Given the description of an element on the screen output the (x, y) to click on. 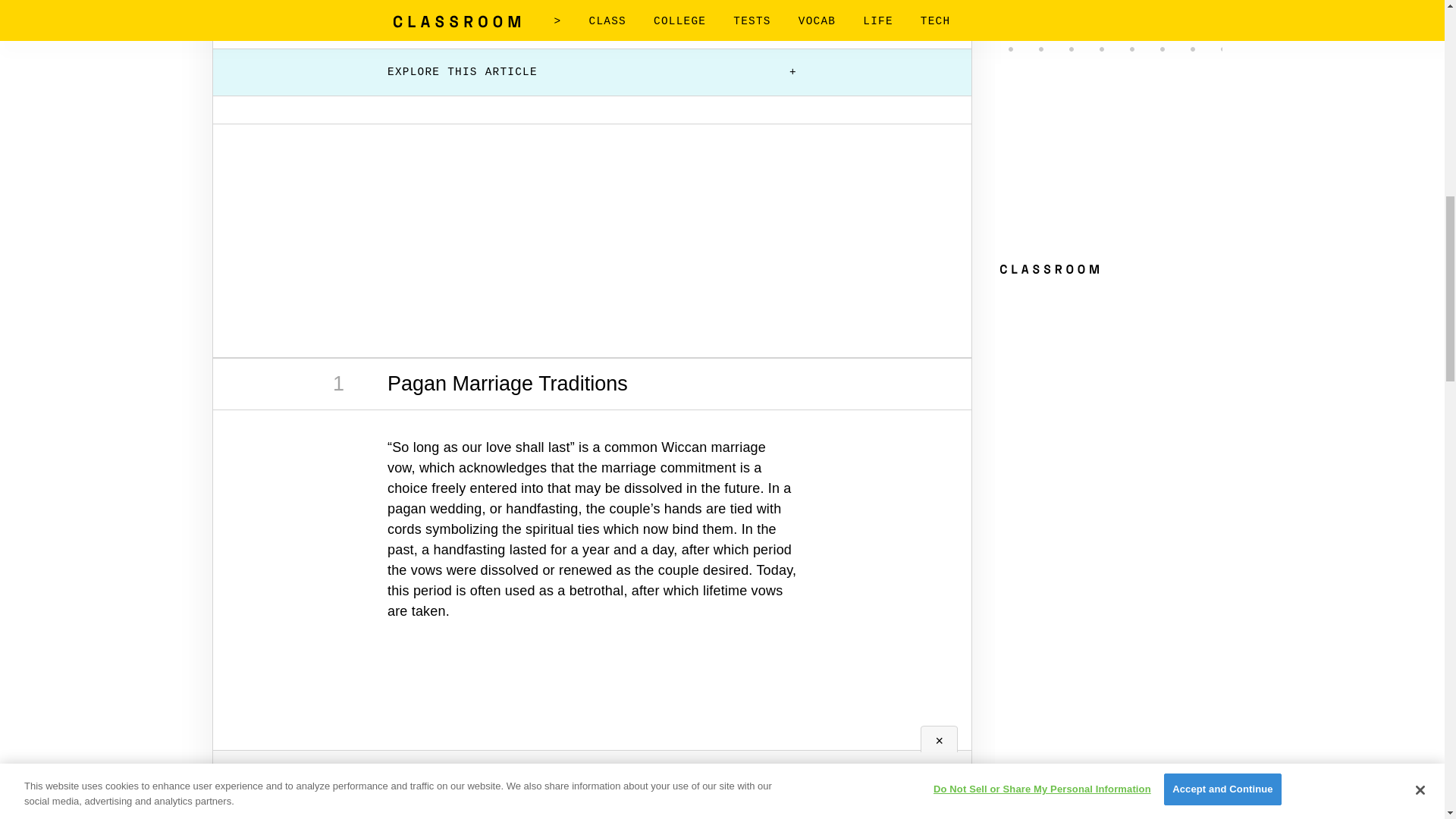
3rd party ad content (591, 717)
